Given the description of an element on the screen output the (x, y) to click on. 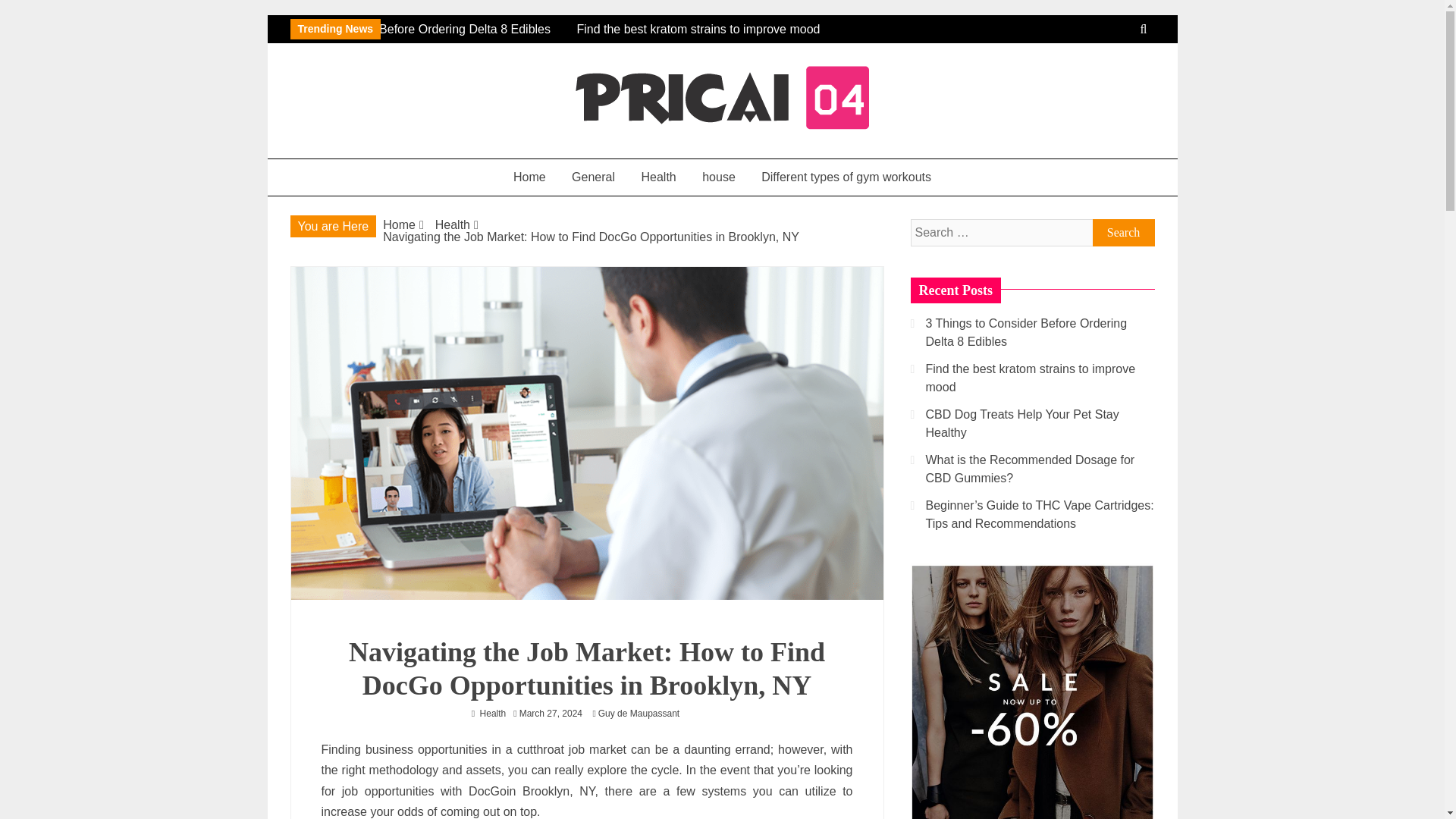
Find the best kratom strains to improve mood (549, 39)
Health (657, 176)
house (718, 176)
Home (398, 224)
Different types of gym workouts (845, 176)
Health (452, 224)
Find the best kratom strains to improve mood (539, 39)
3 Things to Consider Before Ordering Delta 8 Edibles (422, 29)
Search (1123, 232)
General (593, 176)
Guy de Maupassant (642, 713)
March 27, 2024 (550, 713)
Home (529, 176)
Search (1123, 232)
